Given the description of an element on the screen output the (x, y) to click on. 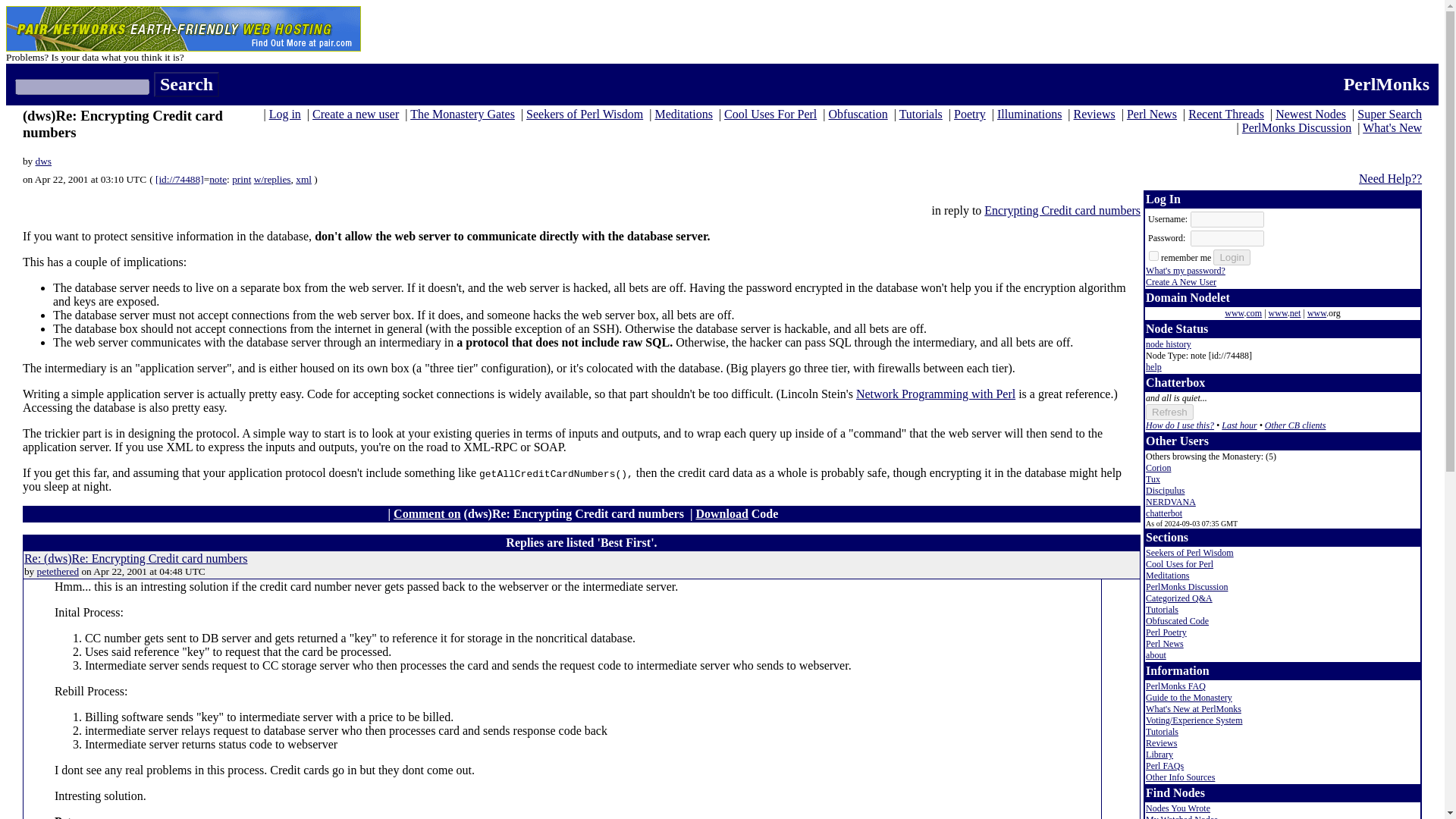
Search (186, 84)
Super Search (1389, 113)
Meditations (682, 113)
Login (1231, 257)
Discipulus's home node. Level 20. Member of: janitors (1165, 490)
chatterbot's home node. Level 1 (1163, 512)
What's New (1392, 127)
PerlMonks Discussion (1296, 127)
Tutorials (920, 113)
Need Help?? (1390, 178)
